Given the description of an element on the screen output the (x, y) to click on. 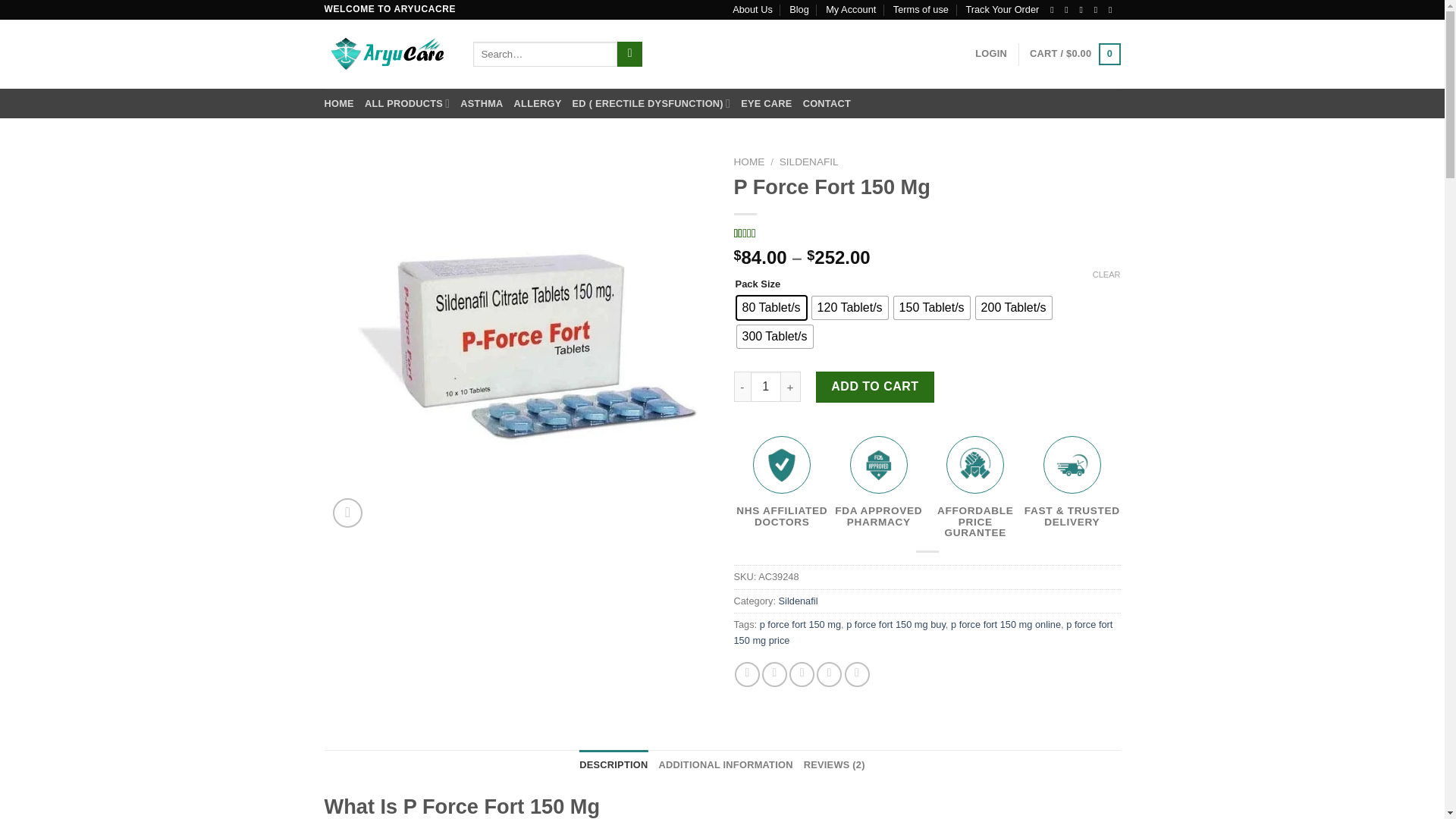
ALL PRODUCTS (407, 102)
Zoom (347, 512)
LOGIN (991, 53)
HOME (338, 103)
ALLERGY (537, 103)
Search (629, 54)
My Account (850, 9)
About Us (752, 9)
Track Your Order (1002, 9)
ASTHMA (481, 103)
